Given the description of an element on the screen output the (x, y) to click on. 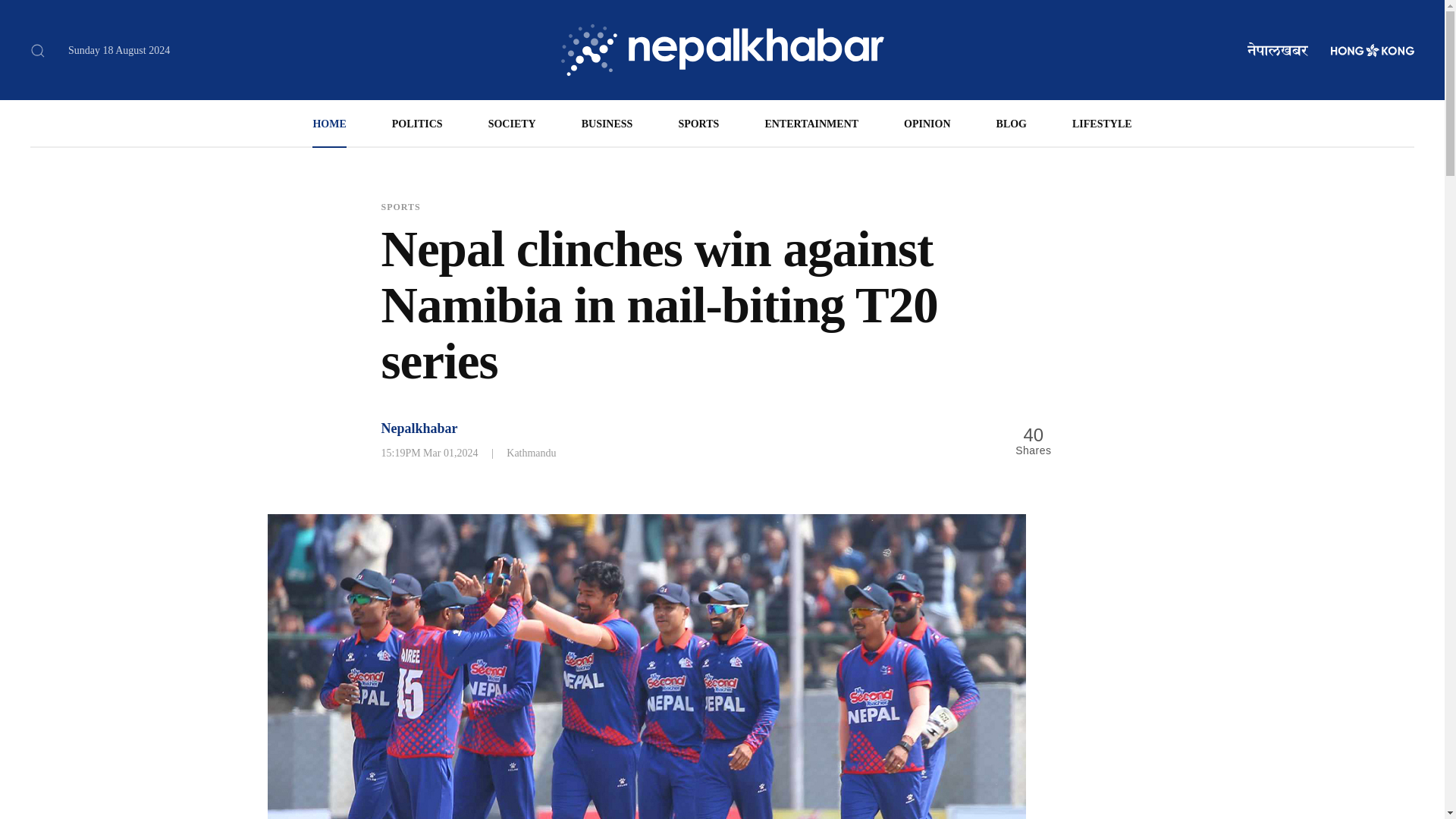
Kathmandu (531, 452)
OPINION (927, 123)
SPORTS (698, 123)
SOCIETY (511, 123)
Nepalkhabar (418, 427)
POLITICS (416, 123)
LIFESTYLE (1101, 123)
BUSINESS (606, 123)
ENTERTAINMENT (811, 123)
